Given the description of an element on the screen output the (x, y) to click on. 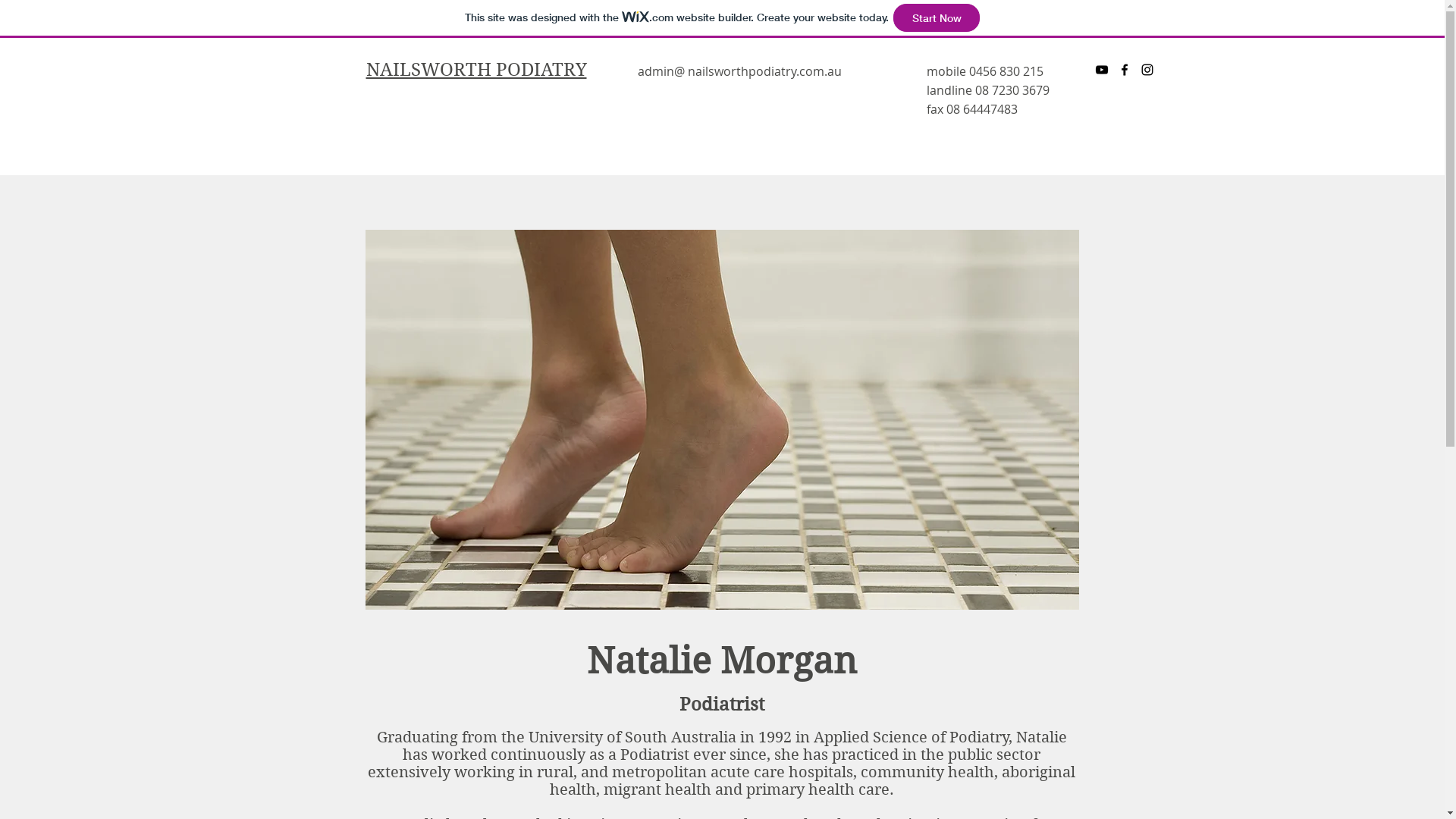
NAILSWORTH PODIATRY Element type: text (475, 69)
